Given the description of an element on the screen output the (x, y) to click on. 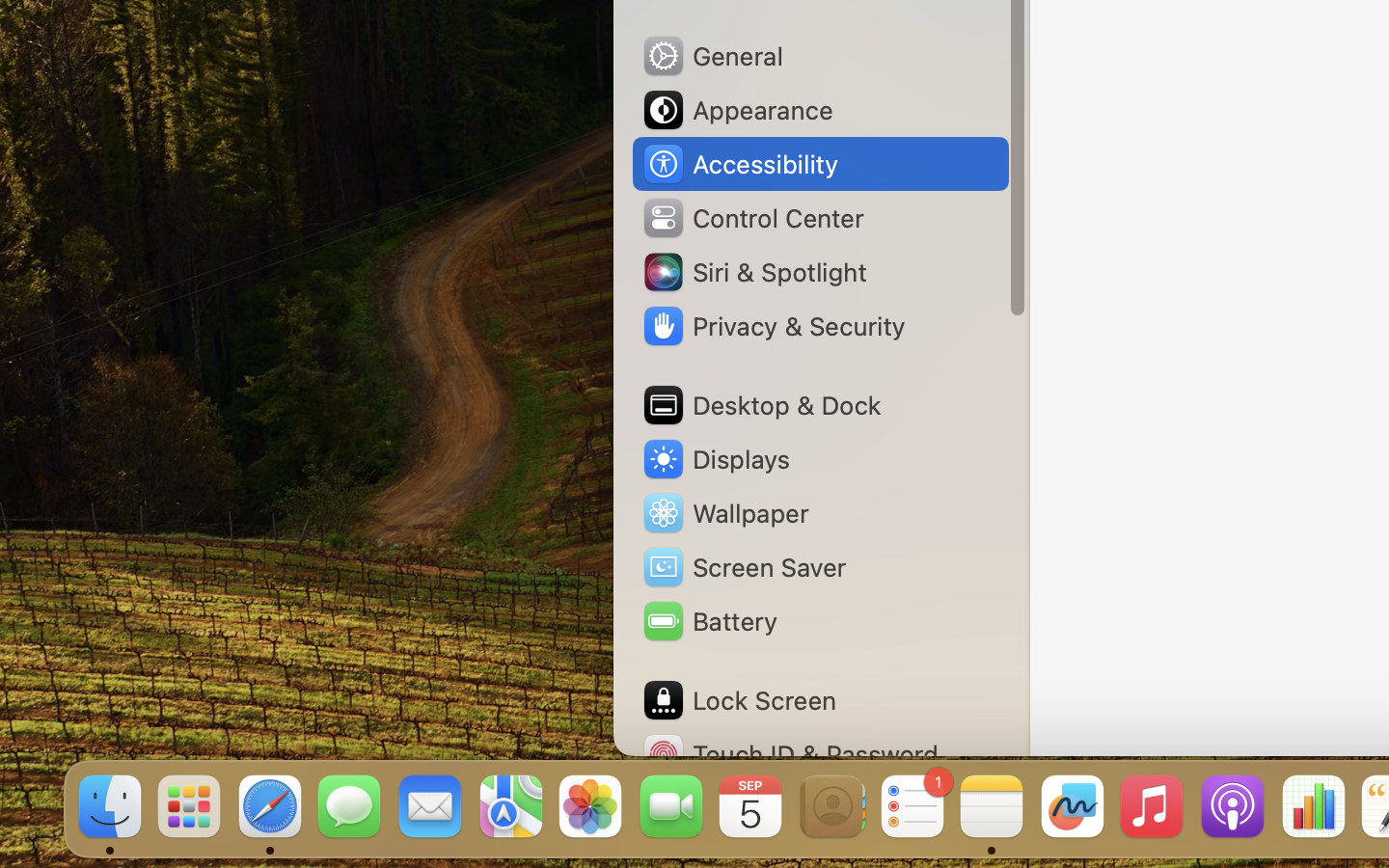
Privacy & Security Element type: AXStaticText (772, 325)
Lock Screen Element type: AXStaticText (738, 700)
Siri & Spotlight Element type: AXStaticText (753, 271)
Accessibility Element type: AXStaticText (739, 163)
Control Center Element type: AXStaticText (752, 217)
